Given the description of an element on the screen output the (x, y) to click on. 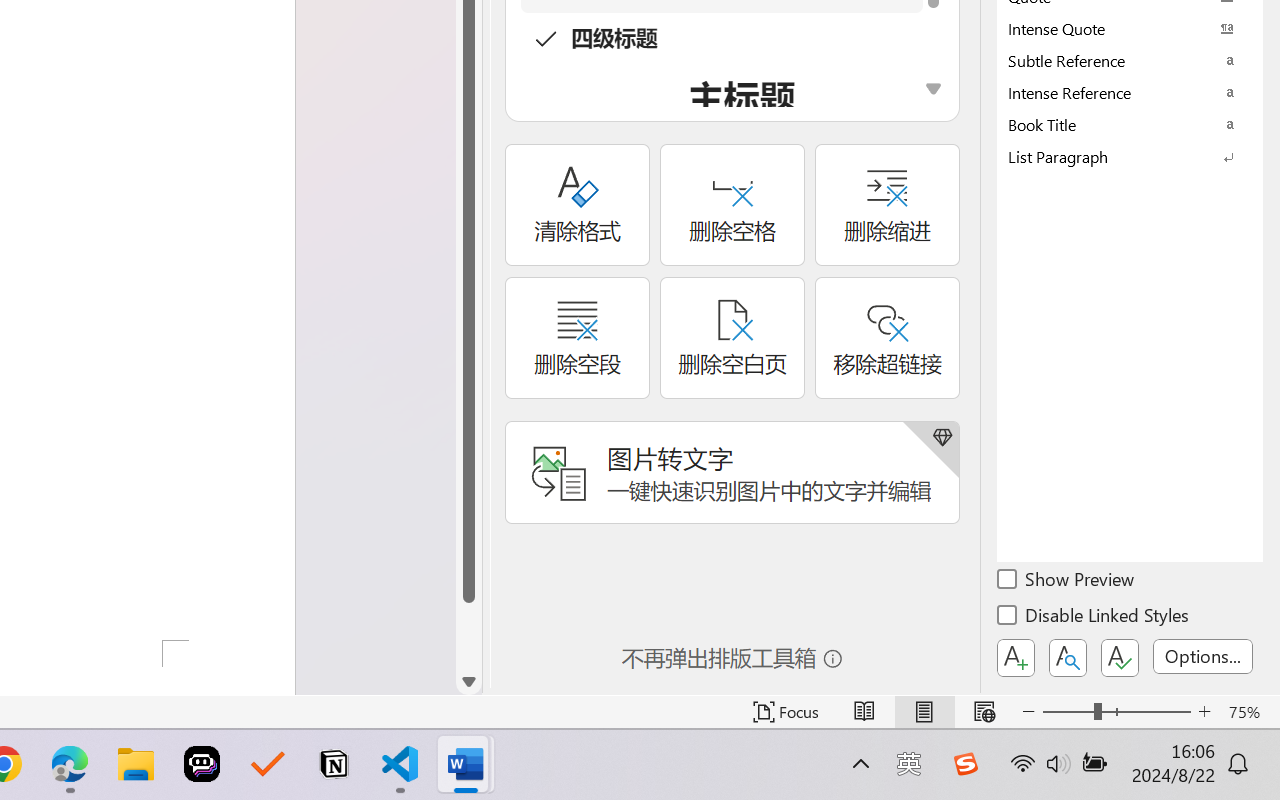
Show Preview (1067, 582)
Class: Image (965, 764)
